Given the description of an element on the screen output the (x, y) to click on. 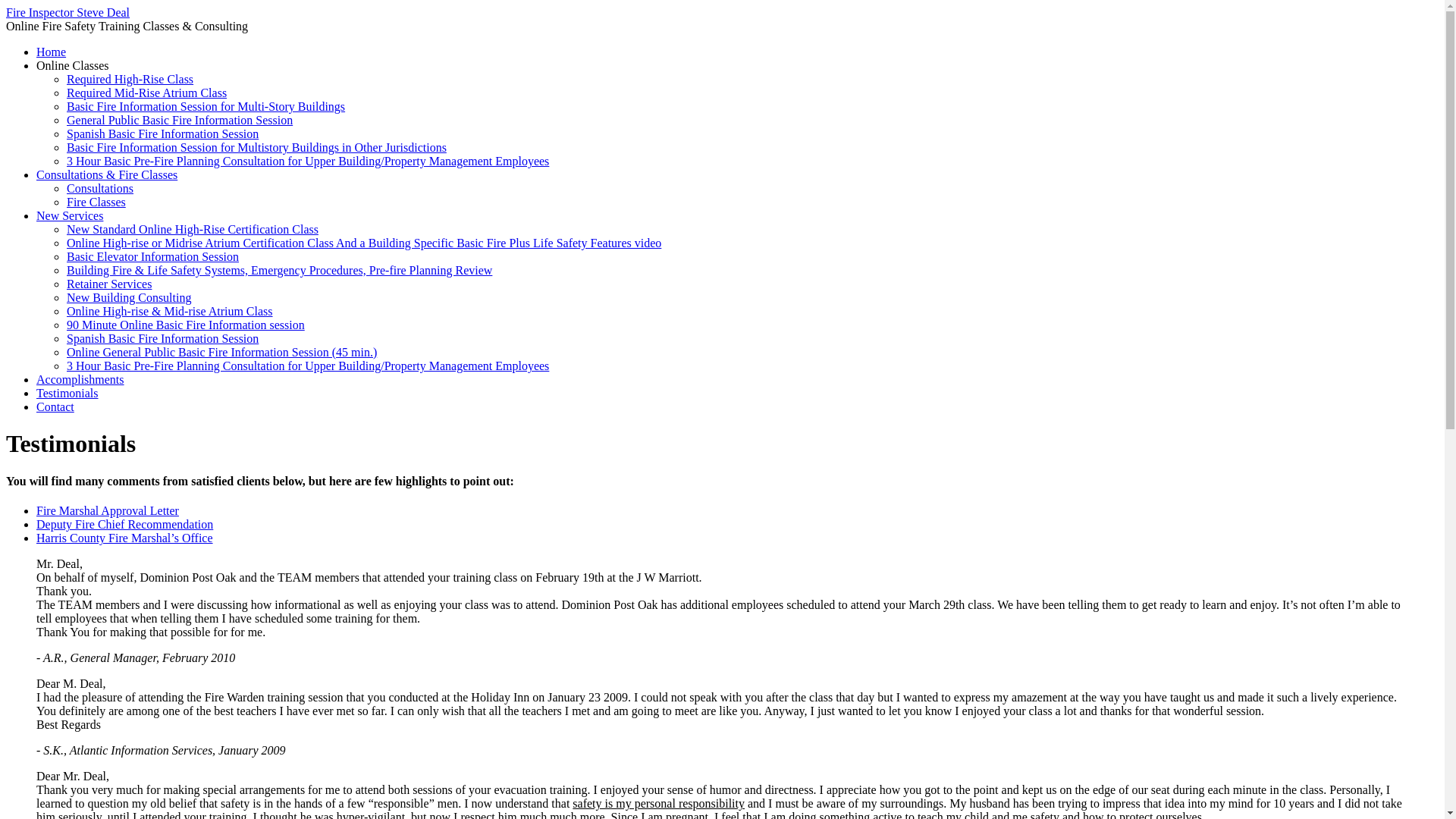
New Standard Online High-Rise Certification Class (192, 228)
Spanish Basic Fire Information Session (162, 338)
Basic Fire Information Session for Multi-Story Buildings (205, 106)
Fire Inspector Steve Deal (67, 11)
90 Minute Online Basic Fire Information session (185, 324)
Online Classes (72, 65)
Fire Marshal Approval Letter (107, 510)
Deputy Fire Chief Recommendation (124, 523)
Required High-Rise Class (129, 78)
